Given the description of an element on the screen output the (x, y) to click on. 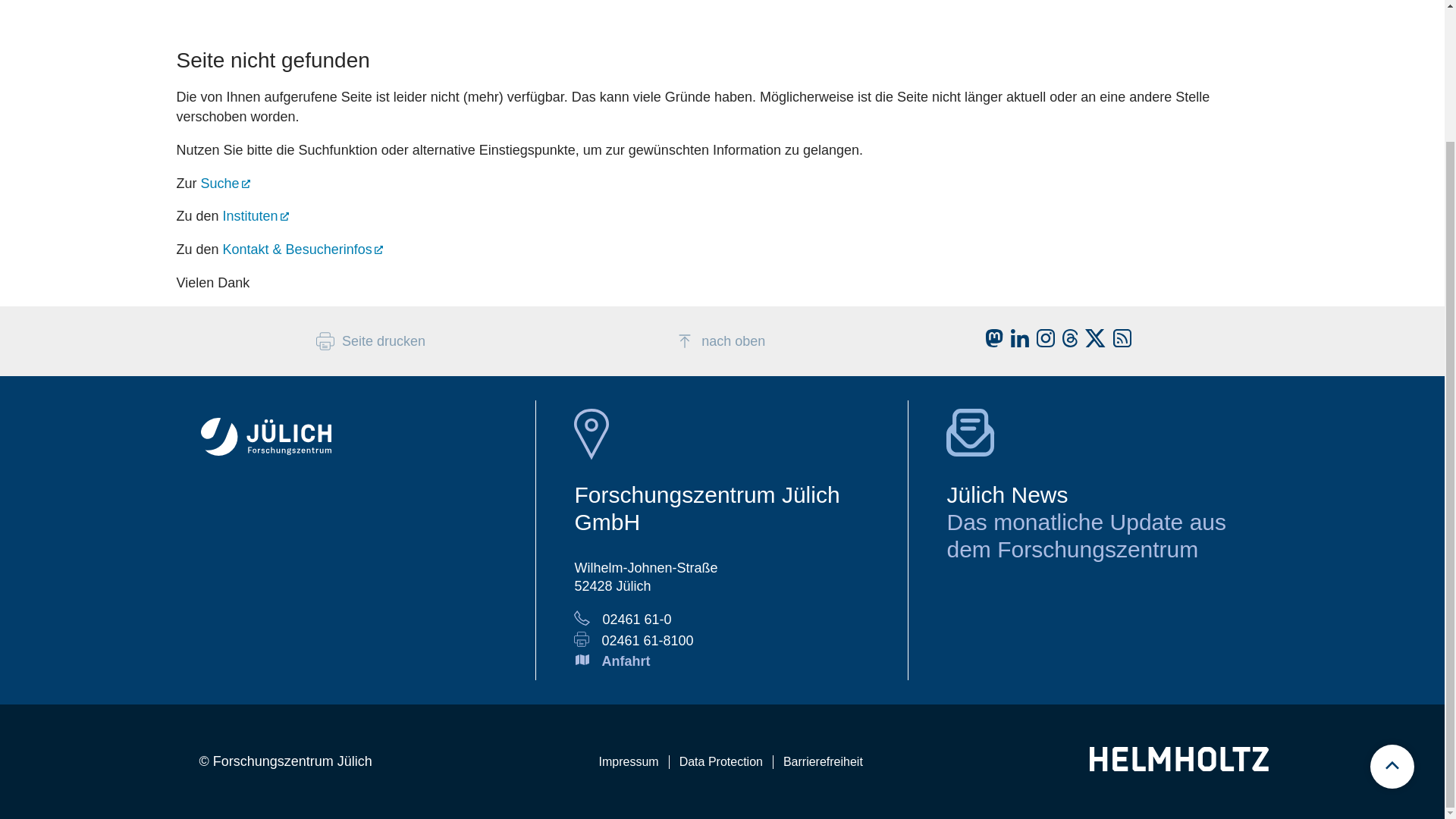
Barrierefreiheit (822, 761)
nach oben (720, 340)
Seite drucken (370, 340)
Anfahrt (625, 661)
Data Protection (721, 761)
nach oben (721, 333)
Instituten (255, 215)
nach oben (721, 333)
Suche (225, 183)
Impressum (628, 761)
